Given the description of an element on the screen output the (x, y) to click on. 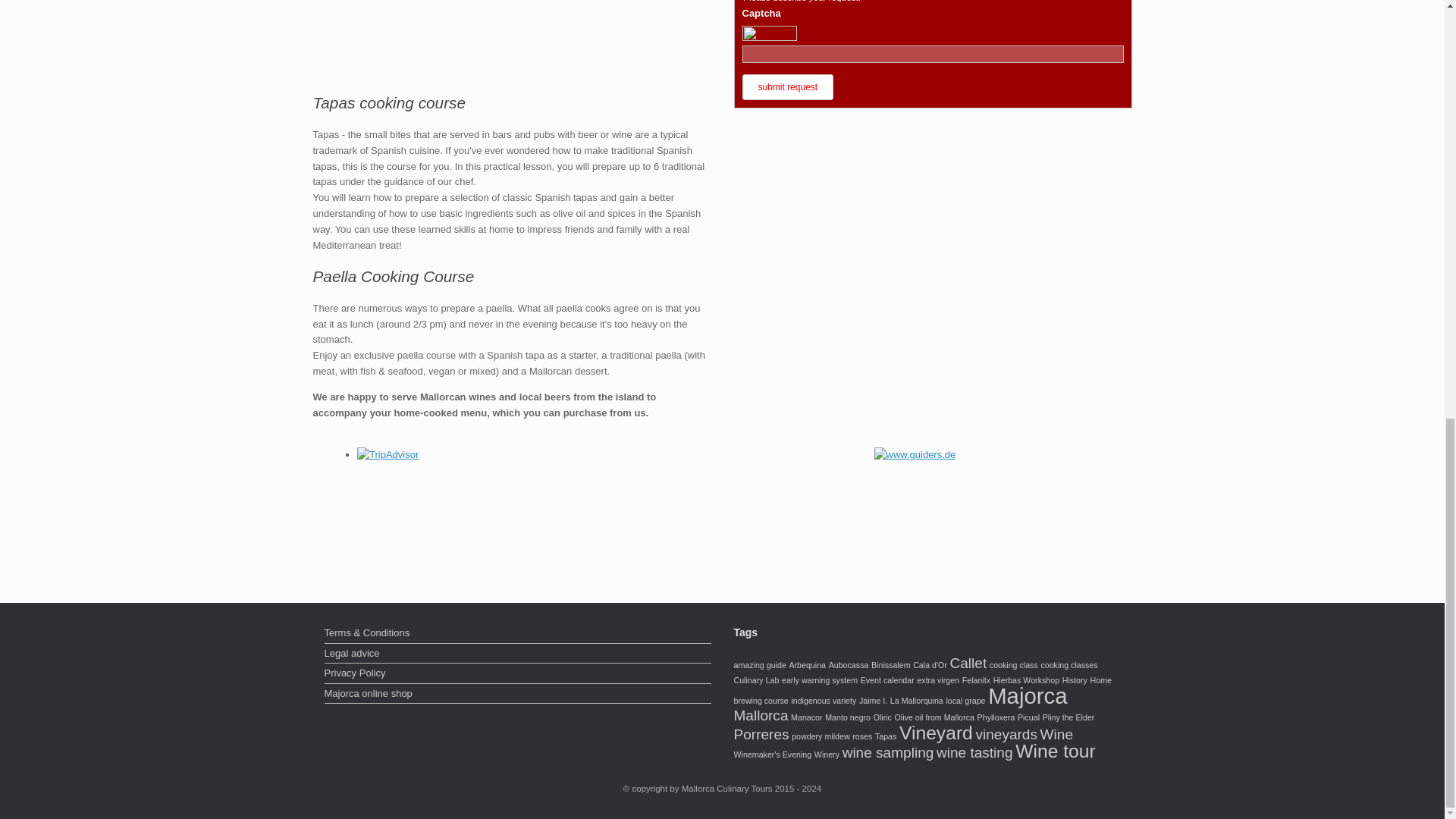
www.guiders.de (914, 455)
submit request (786, 86)
Legal advice (517, 655)
wp-1647520685548.jpg (511, 34)
